Given the description of an element on the screen output the (x, y) to click on. 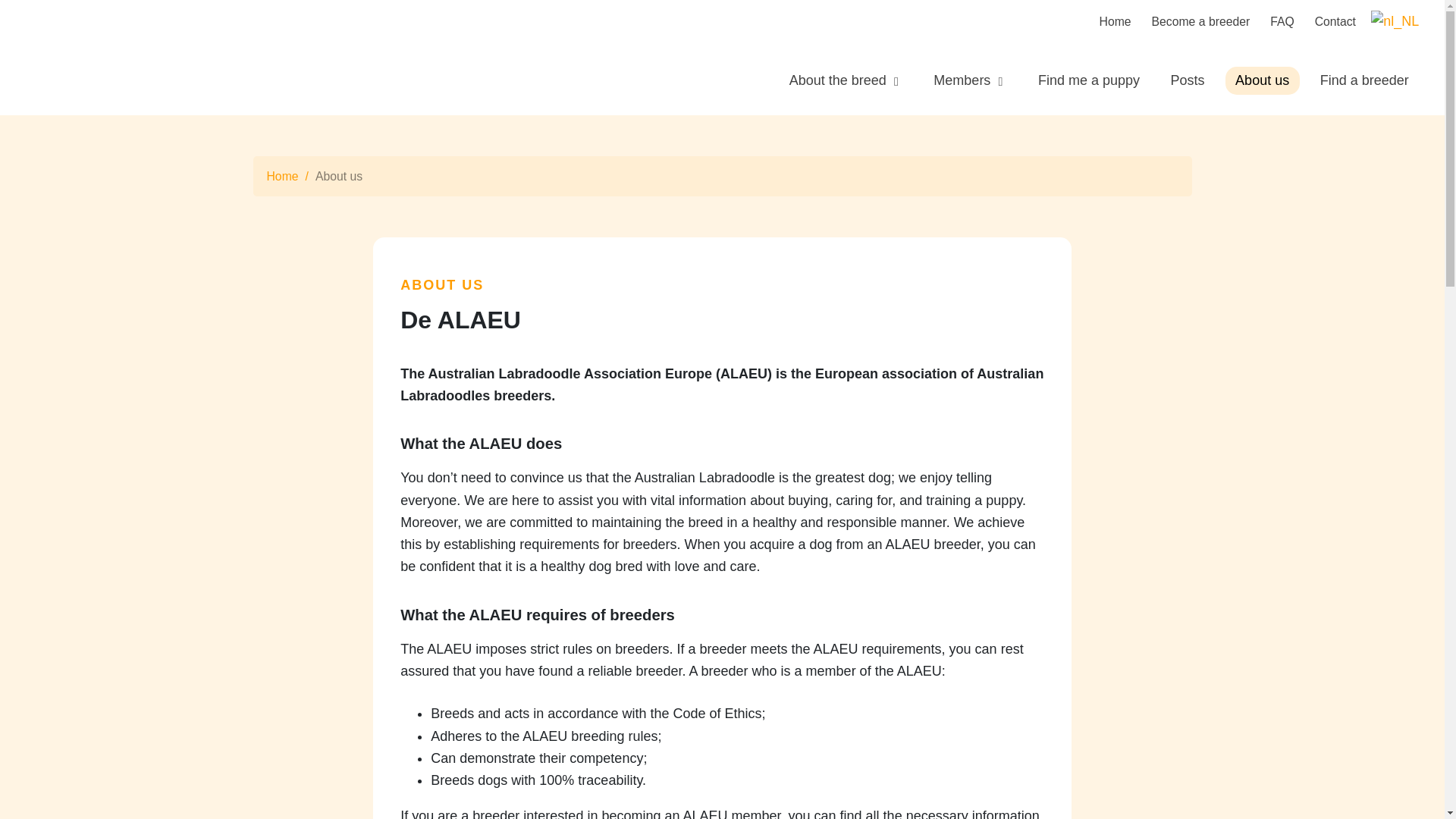
Become a breeder (1201, 21)
ALAEU.com (55, 57)
About the breed (845, 80)
Home (282, 176)
Contact (1334, 21)
Members (970, 80)
FAQ (1281, 21)
Home (1115, 21)
